Given the description of an element on the screen output the (x, y) to click on. 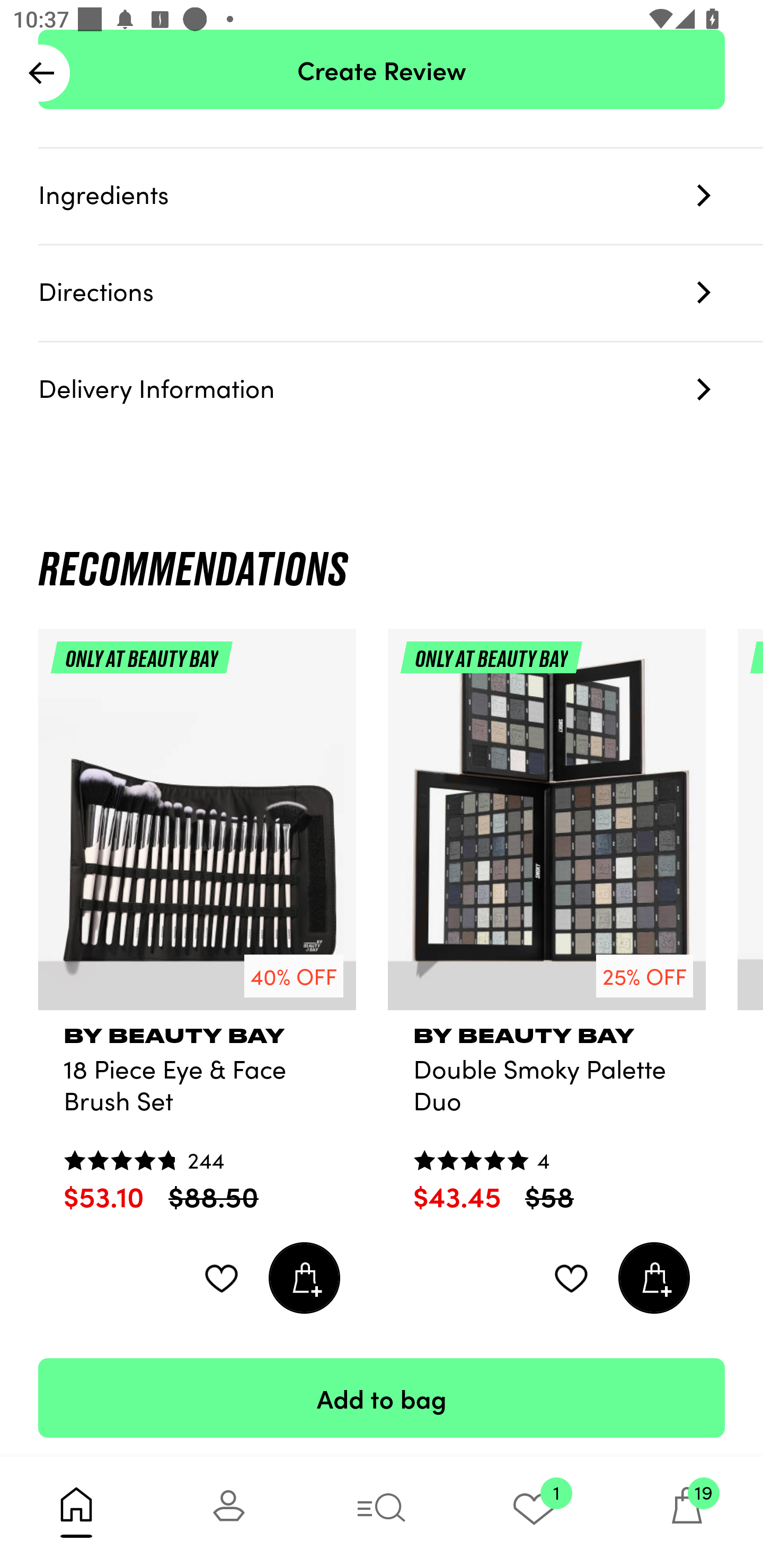
Create Review (381, 69)
Ingredients  (400, 196)
Directions  (400, 293)
Delivery Information  (400, 390)
ONLY AT BEAUTY BAY 40% OFF (197, 826)
ONLY AT BEAUTY BAY 25% OFF (546, 826)
Add to bag (381, 1397)
1 (533, 1512)
19 (686, 1512)
